Given the description of an element on the screen output the (x, y) to click on. 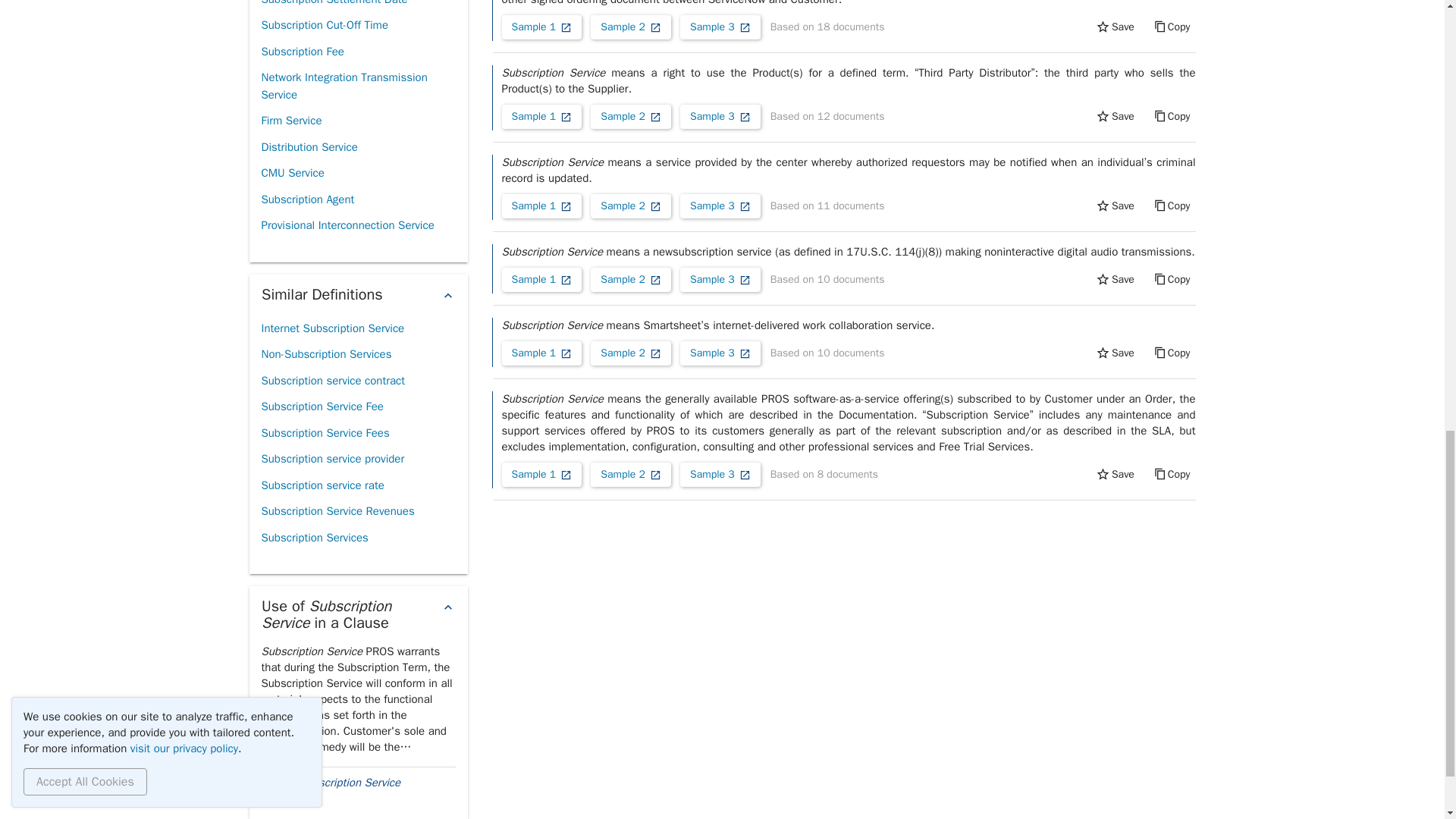
Subscription Settlement Date (333, 6)
